Given the description of an element on the screen output the (x, y) to click on. 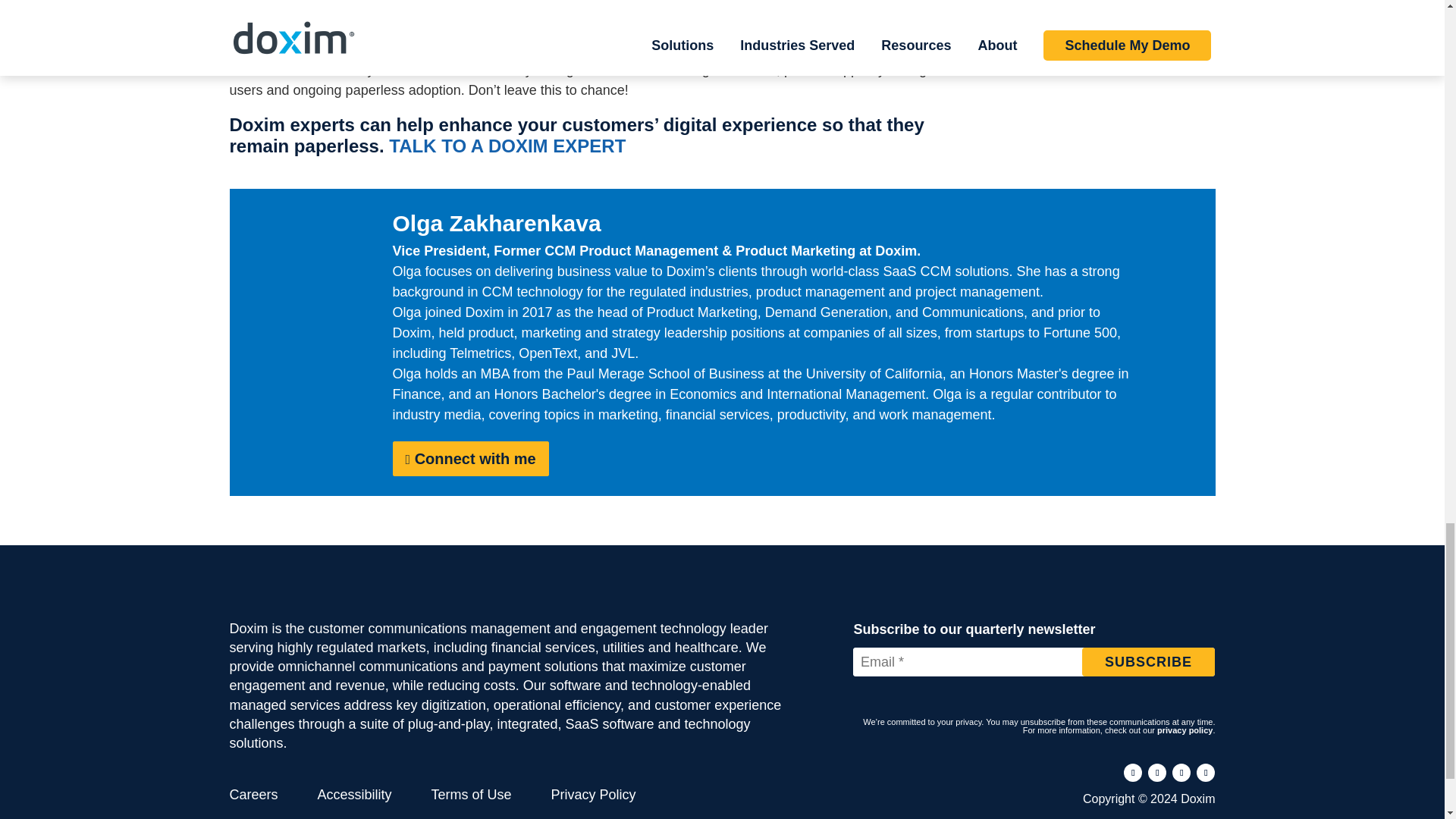
Follow on X (1181, 772)
Follow on LinkedIn (1157, 772)
Follow on Facebook (1132, 772)
Follow on Youtube (1205, 772)
